Given the description of an element on the screen output the (x, y) to click on. 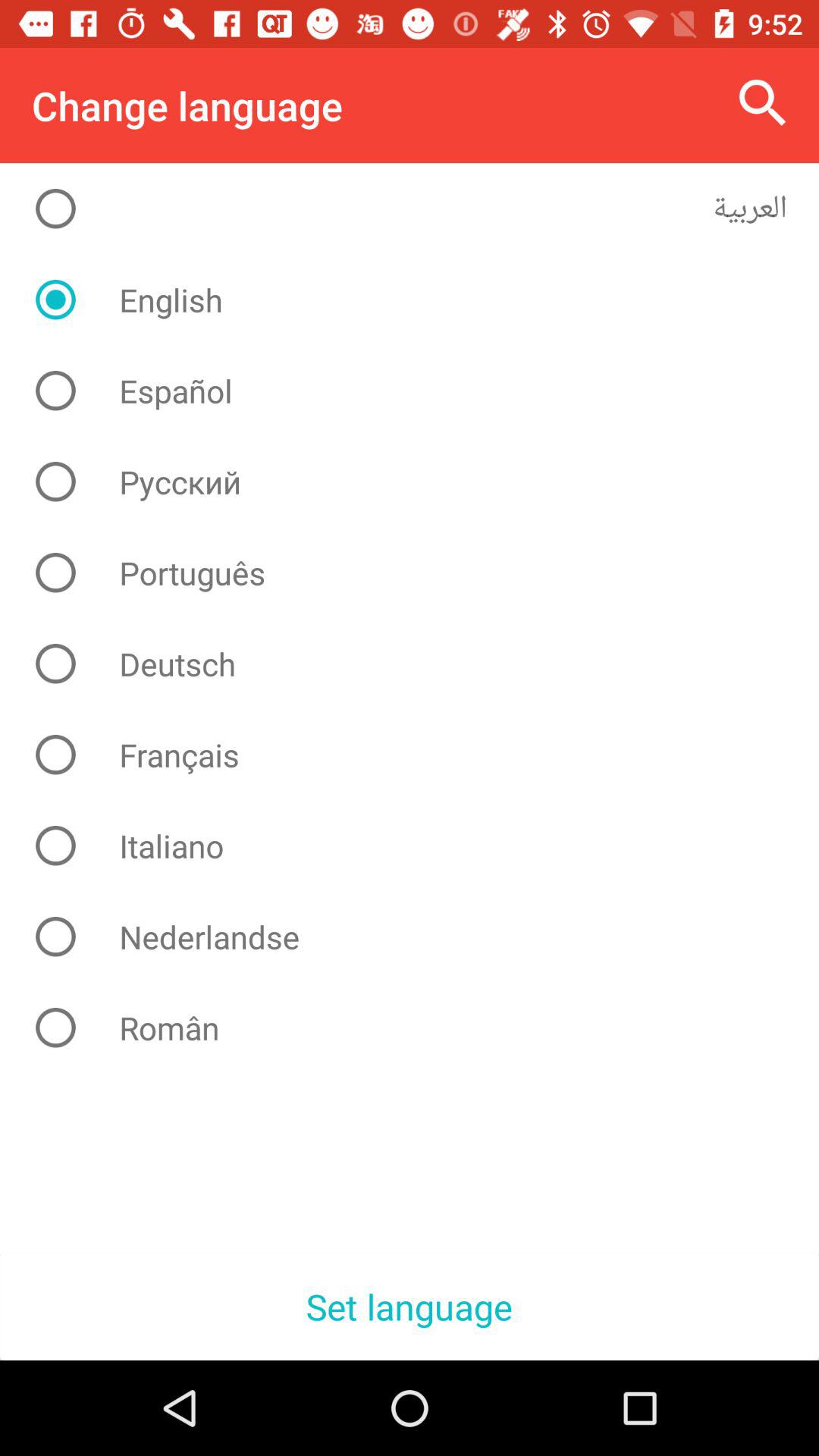
tap the icon below nederlandse icon (421, 1027)
